Given the description of an element on the screen output the (x, y) to click on. 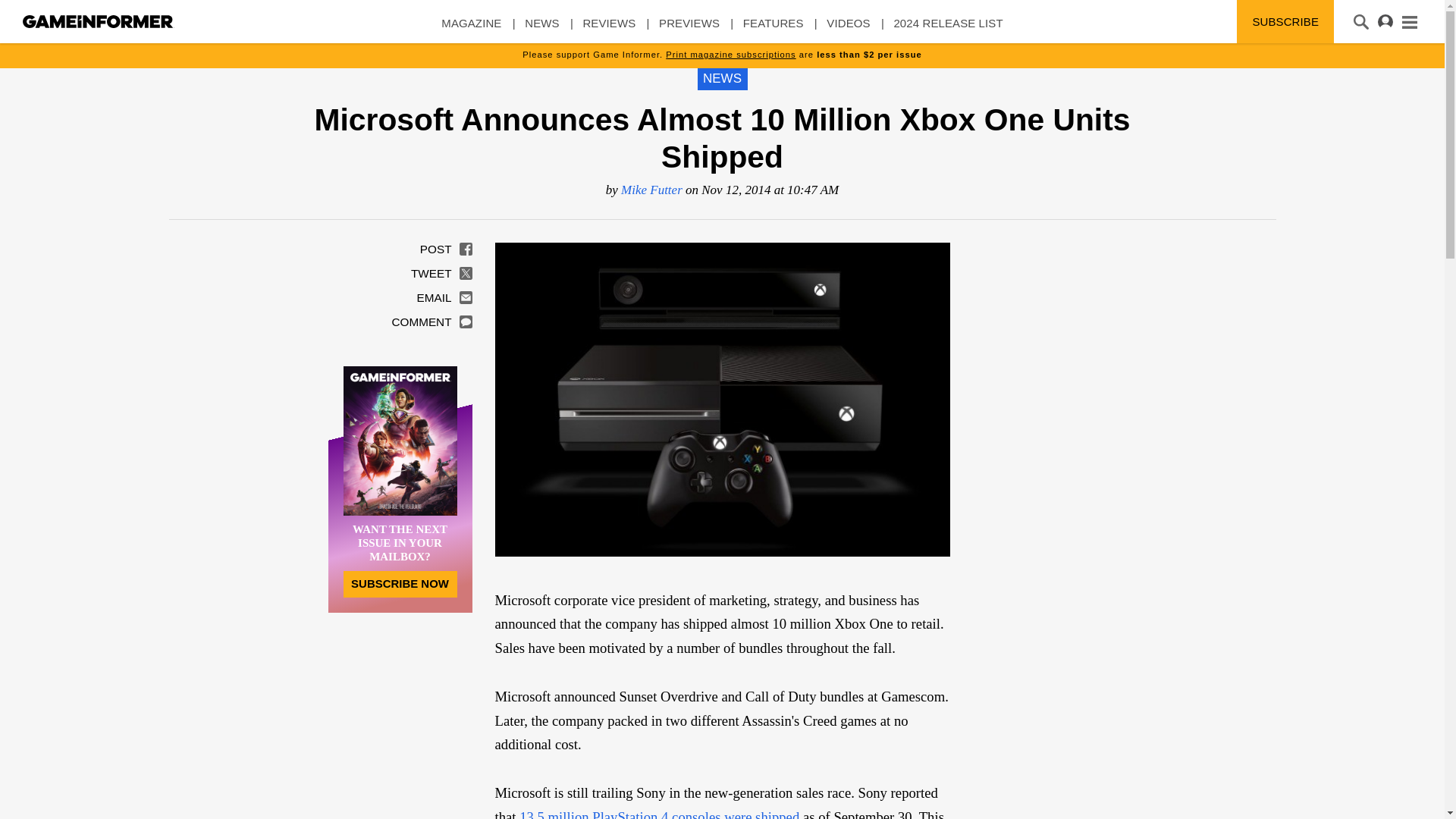
VIDEOS (848, 29)
PREVIEWS (689, 29)
Search (32, 13)
REVIEWS (608, 29)
MAGAZINE (470, 29)
FEATURES (772, 29)
2024 RELEASE LIST (948, 29)
NEWS (541, 29)
SUBSCRIBE (1284, 21)
